Given the description of an element on the screen output the (x, y) to click on. 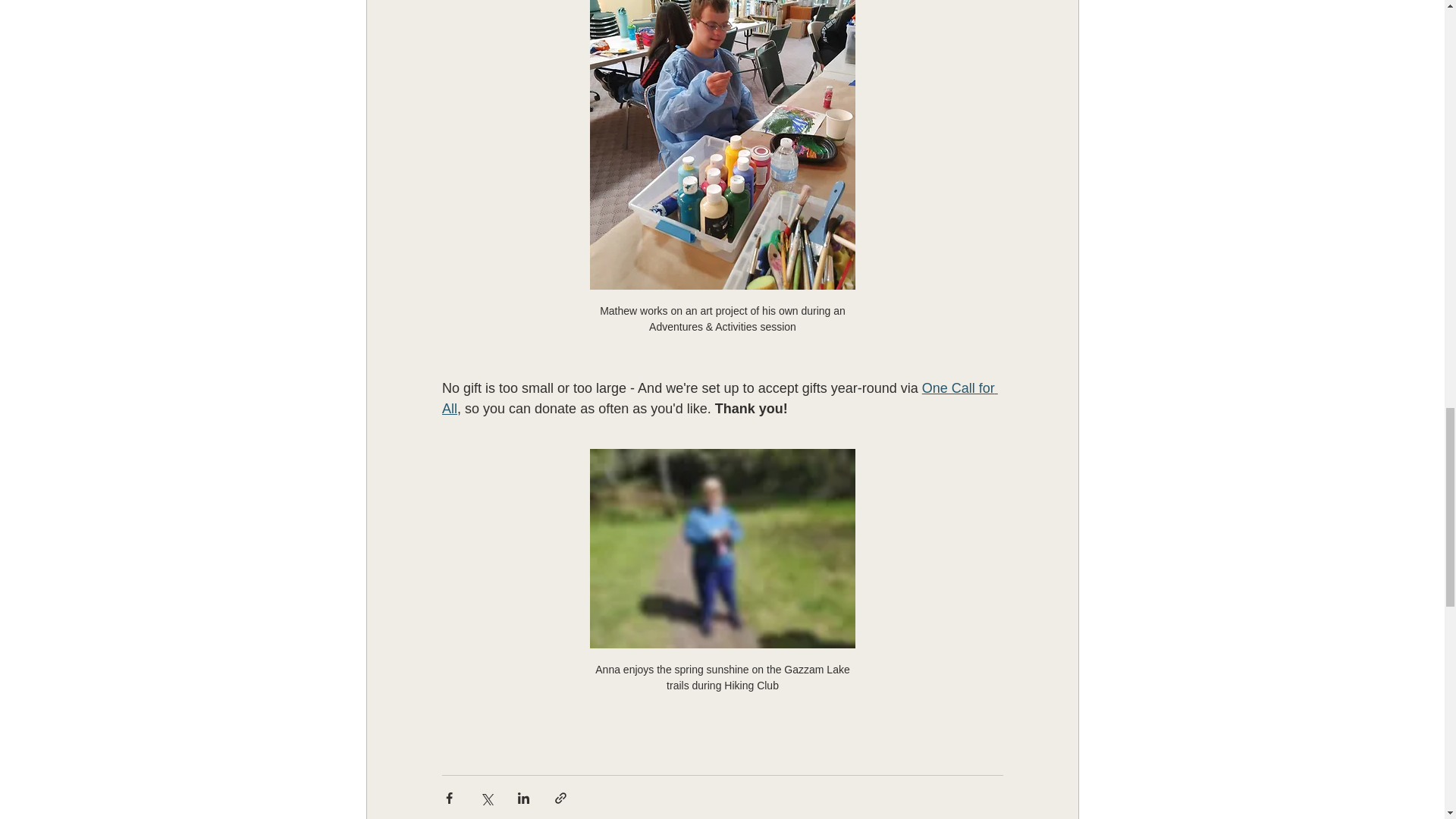
One Call for All (719, 398)
